Given the description of an element on the screen output the (x, y) to click on. 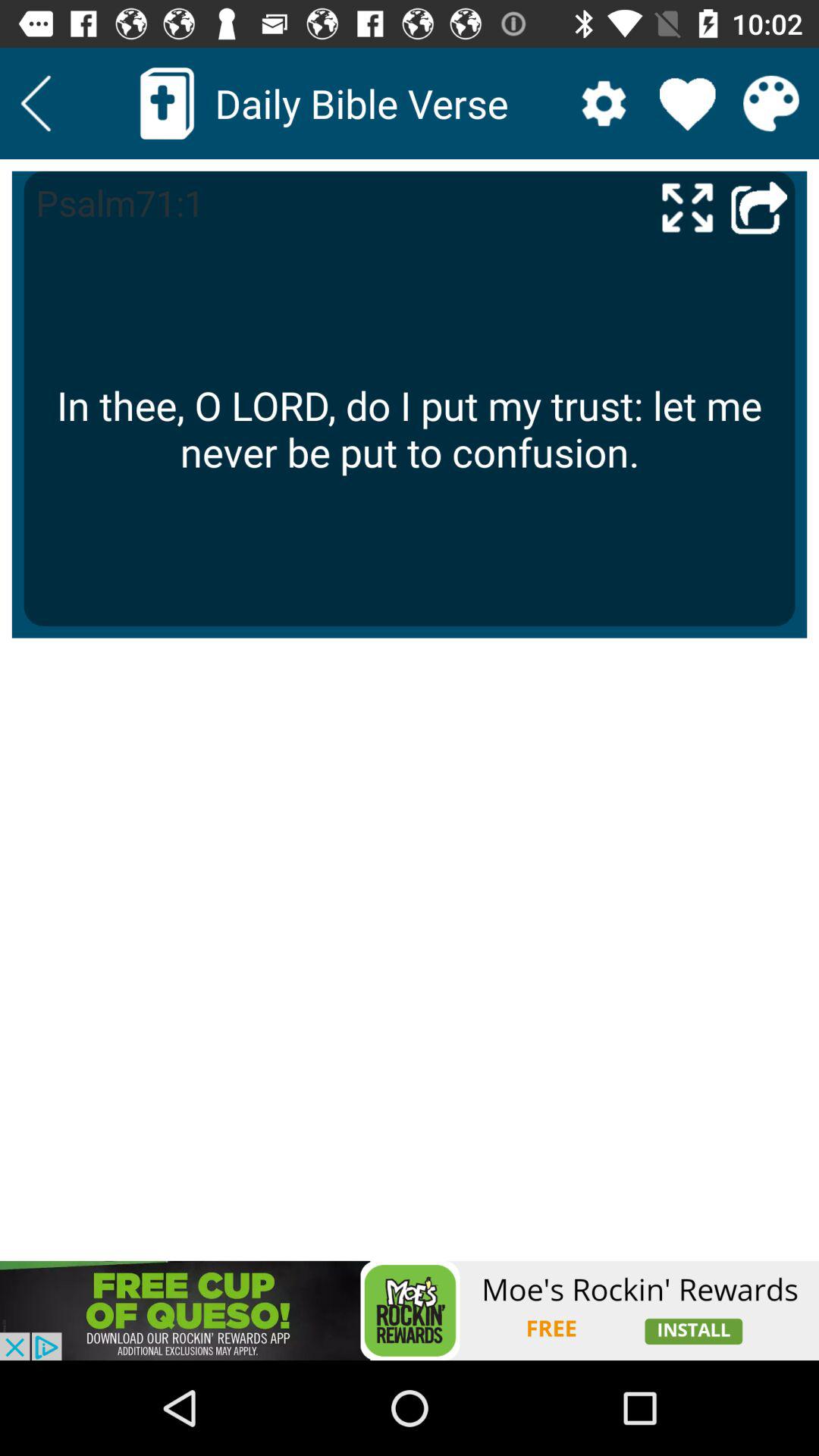
click to download advertised app (409, 1310)
